Given the description of an element on the screen output the (x, y) to click on. 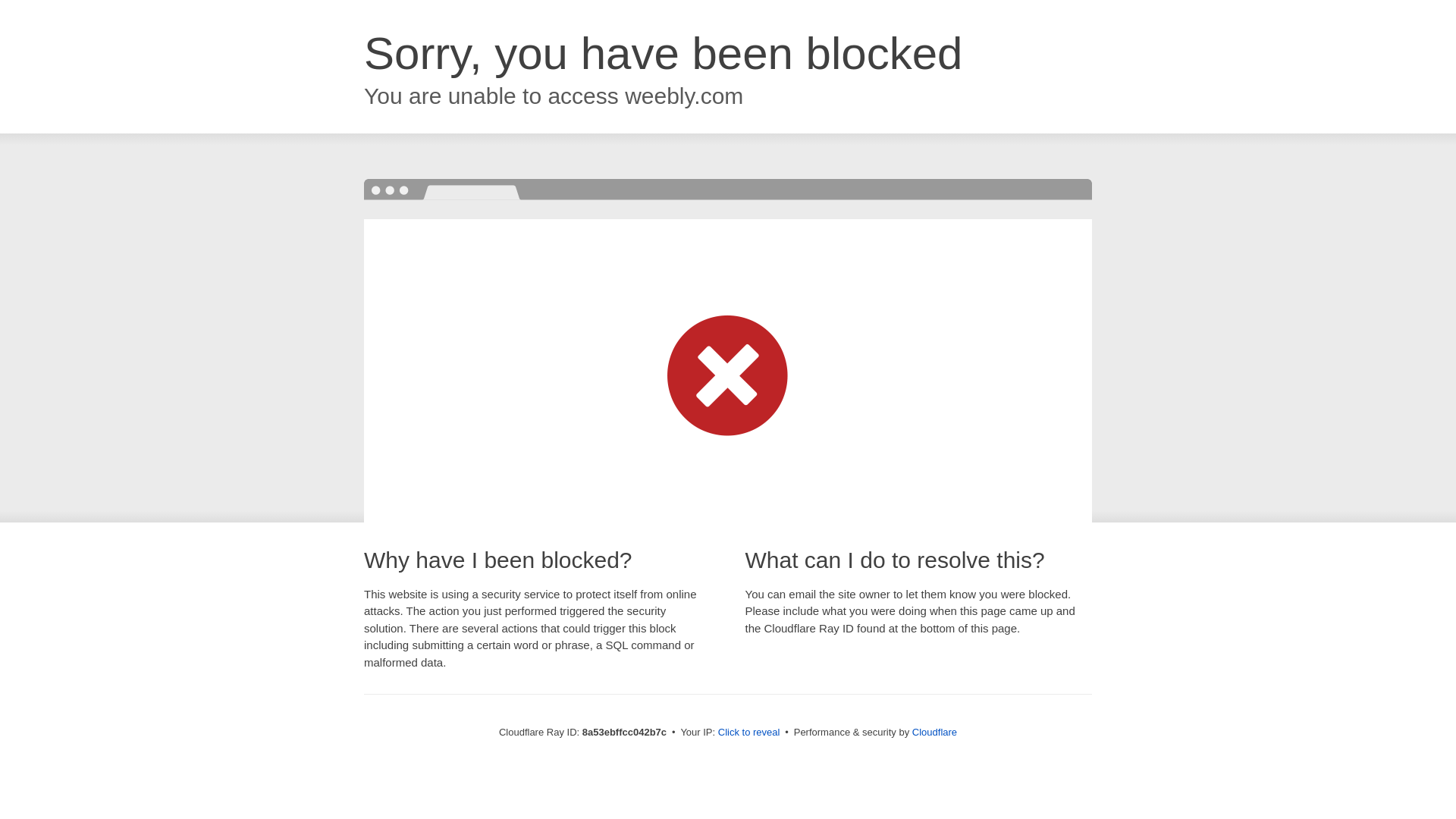
Cloudflare (934, 731)
Click to reveal (748, 732)
